Given the description of an element on the screen output the (x, y) to click on. 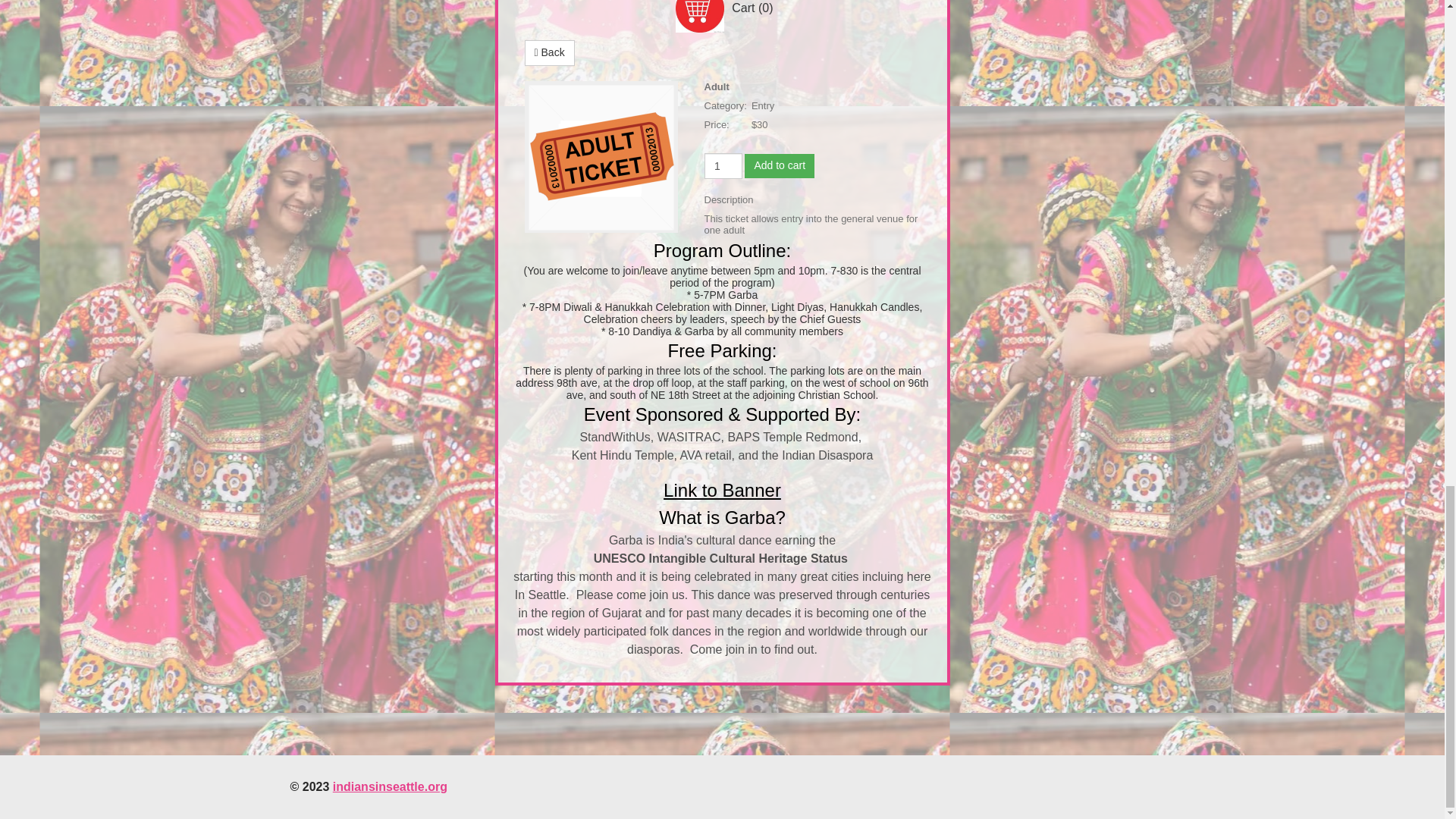
1 (722, 166)
indiansinseattle.org (389, 786)
Link to Banner (721, 489)
Adult (600, 157)
 Back (549, 53)
Cart (699, 16)
Add to cart (778, 165)
